Given the description of an element on the screen output the (x, y) to click on. 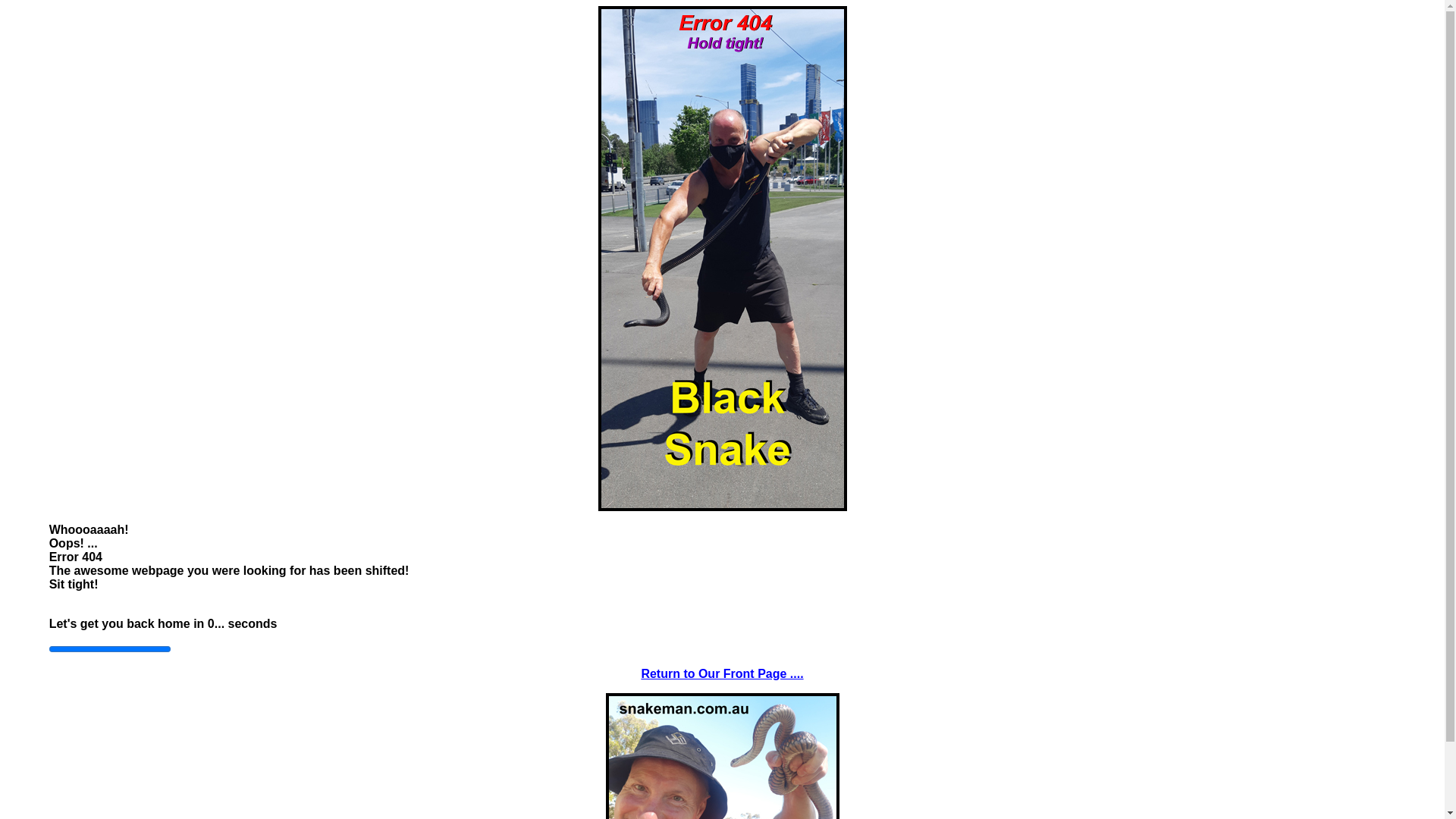
Return to Our Front Page .... Element type: text (721, 673)
snake-man-404 Element type: hover (721, 258)
